Given the description of an element on the screen output the (x, y) to click on. 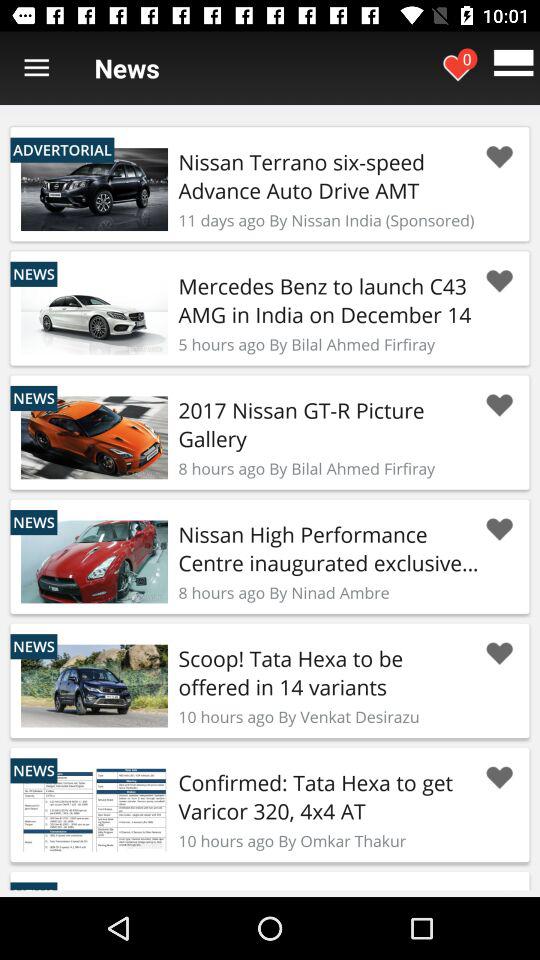
favorite (499, 653)
